Given the description of an element on the screen output the (x, y) to click on. 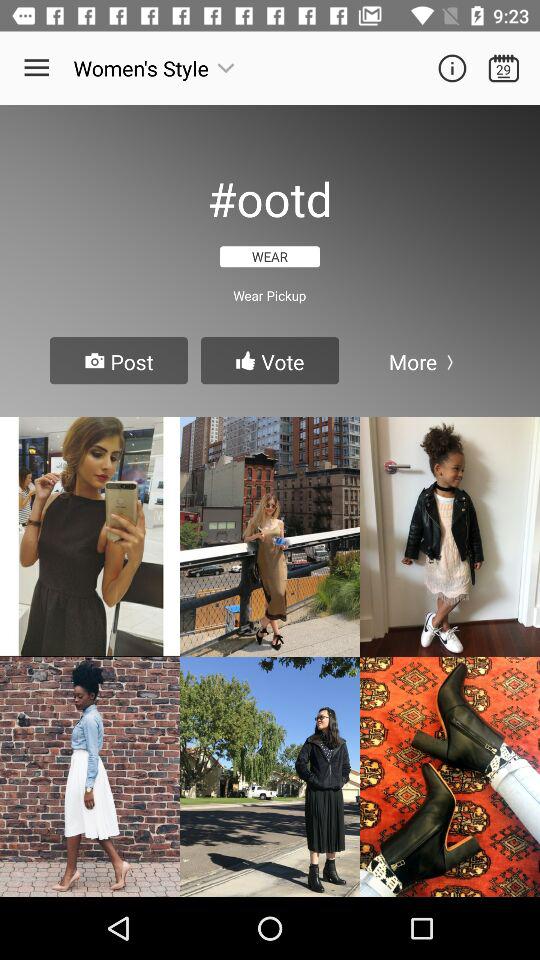
information icon (452, 68)
